Given the description of an element on the screen output the (x, y) to click on. 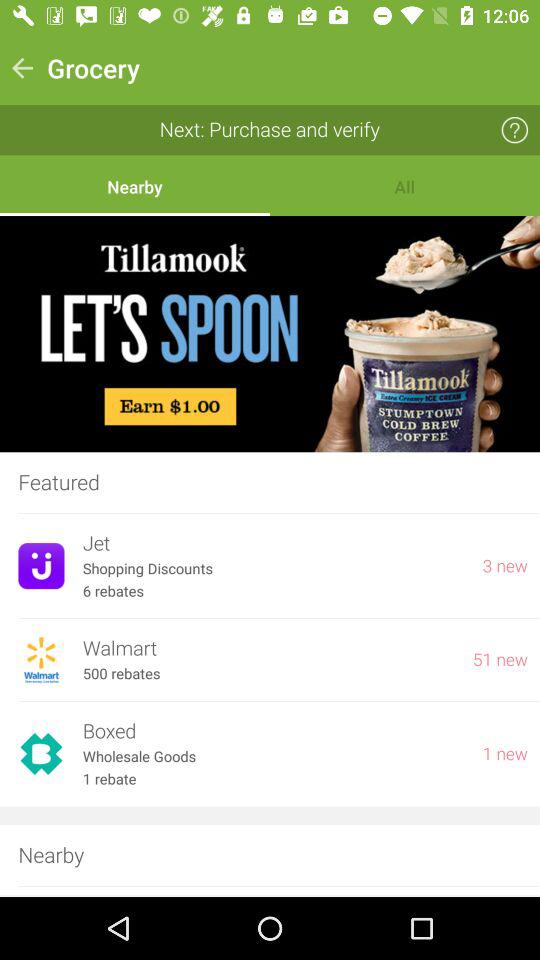
tap icon below 500 rebates item (273, 731)
